Given the description of an element on the screen output the (x, y) to click on. 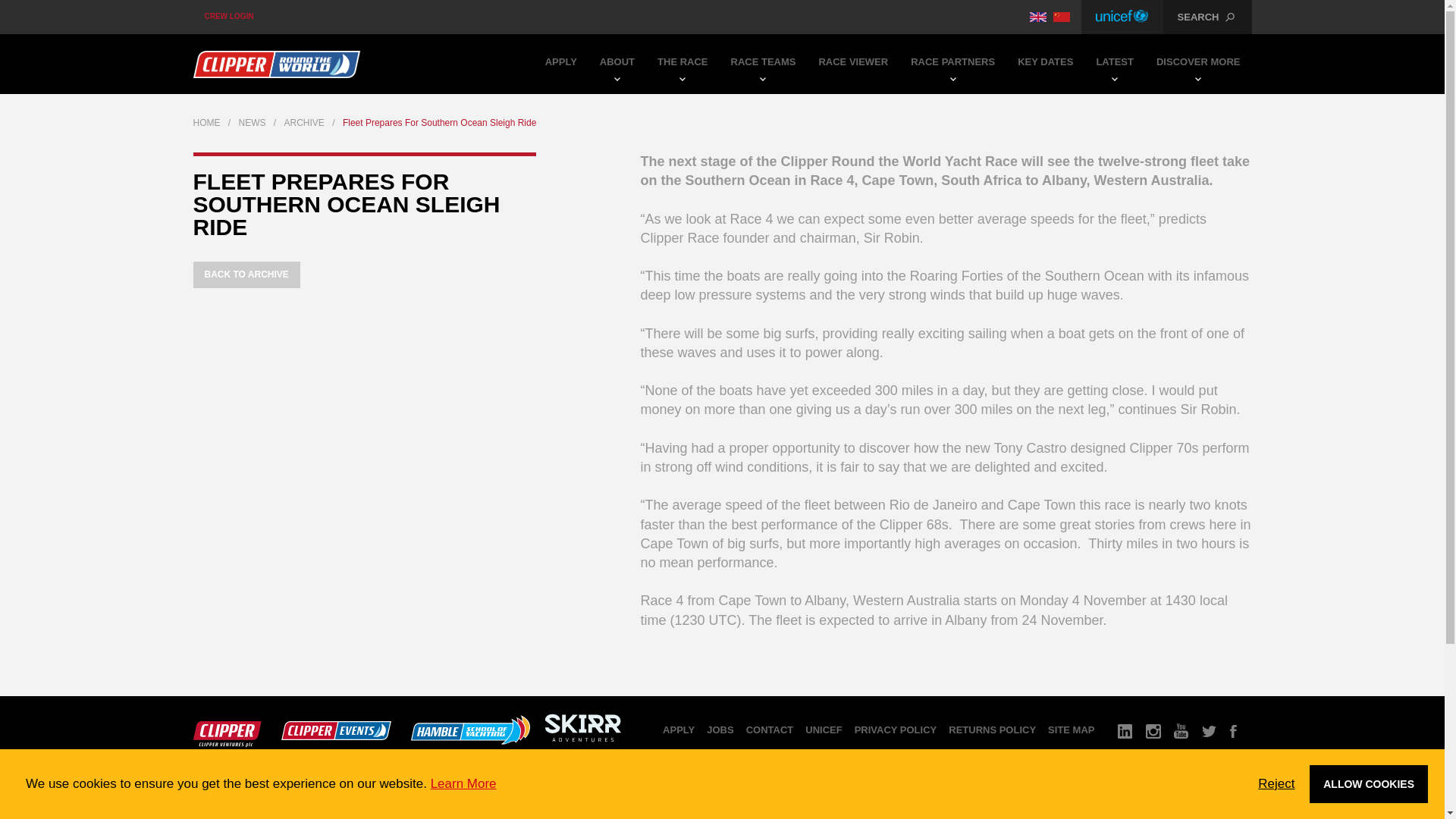
Chinese (1061, 17)
ABOUT (617, 64)
Submit (723, 101)
English (1037, 17)
Clipper Round The World (275, 64)
RACE TEAMS (762, 64)
Chinese (1061, 17)
English (1037, 17)
Unicef (1122, 17)
APPLY (561, 64)
CREW LOGIN (228, 17)
THE RACE (682, 64)
Clipper - Round The World (275, 64)
Chinese (1061, 17)
English (1037, 17)
